Given the description of an element on the screen output the (x, y) to click on. 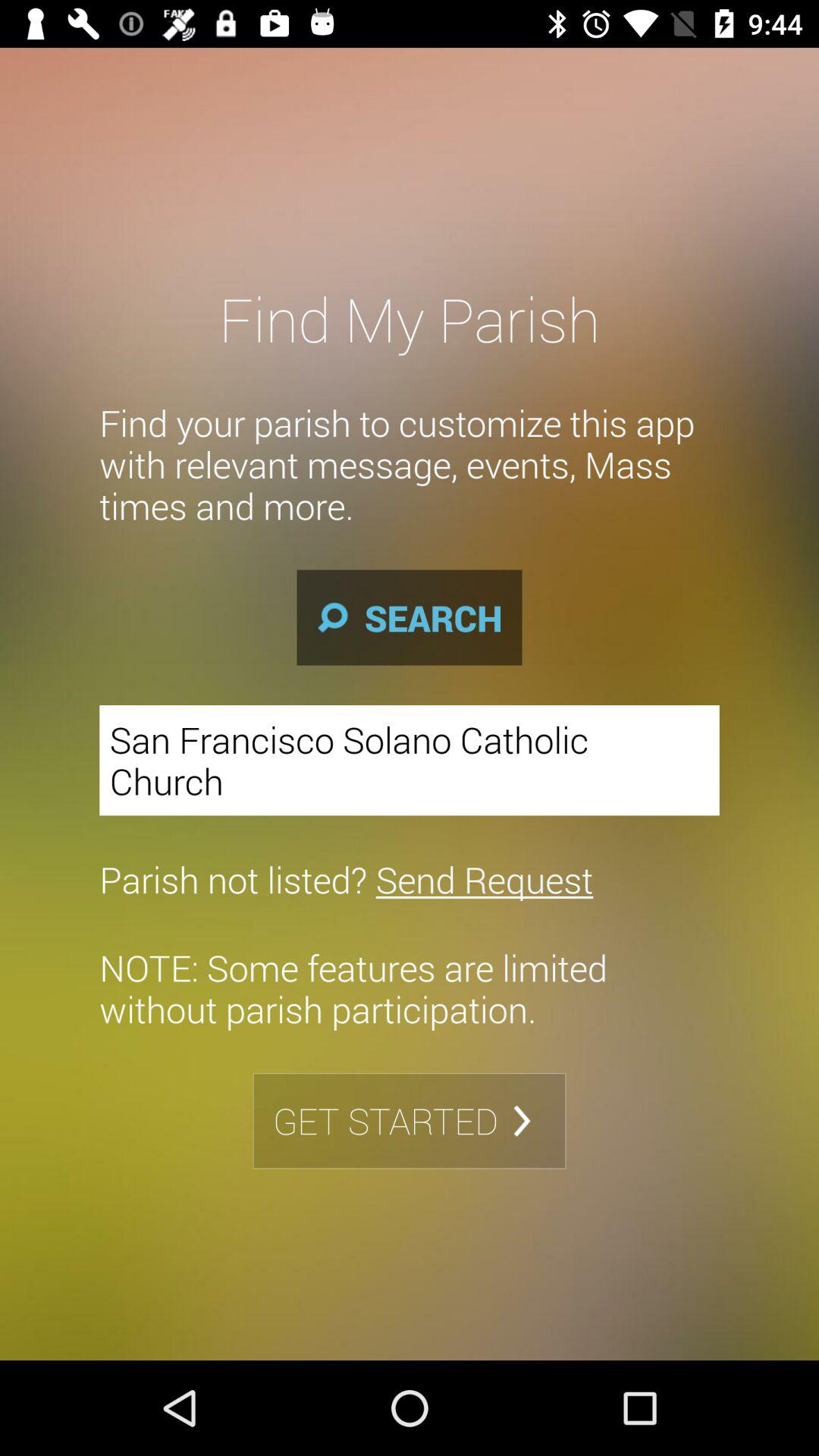
press the parish not listed (346, 879)
